Given the description of an element on the screen output the (x, y) to click on. 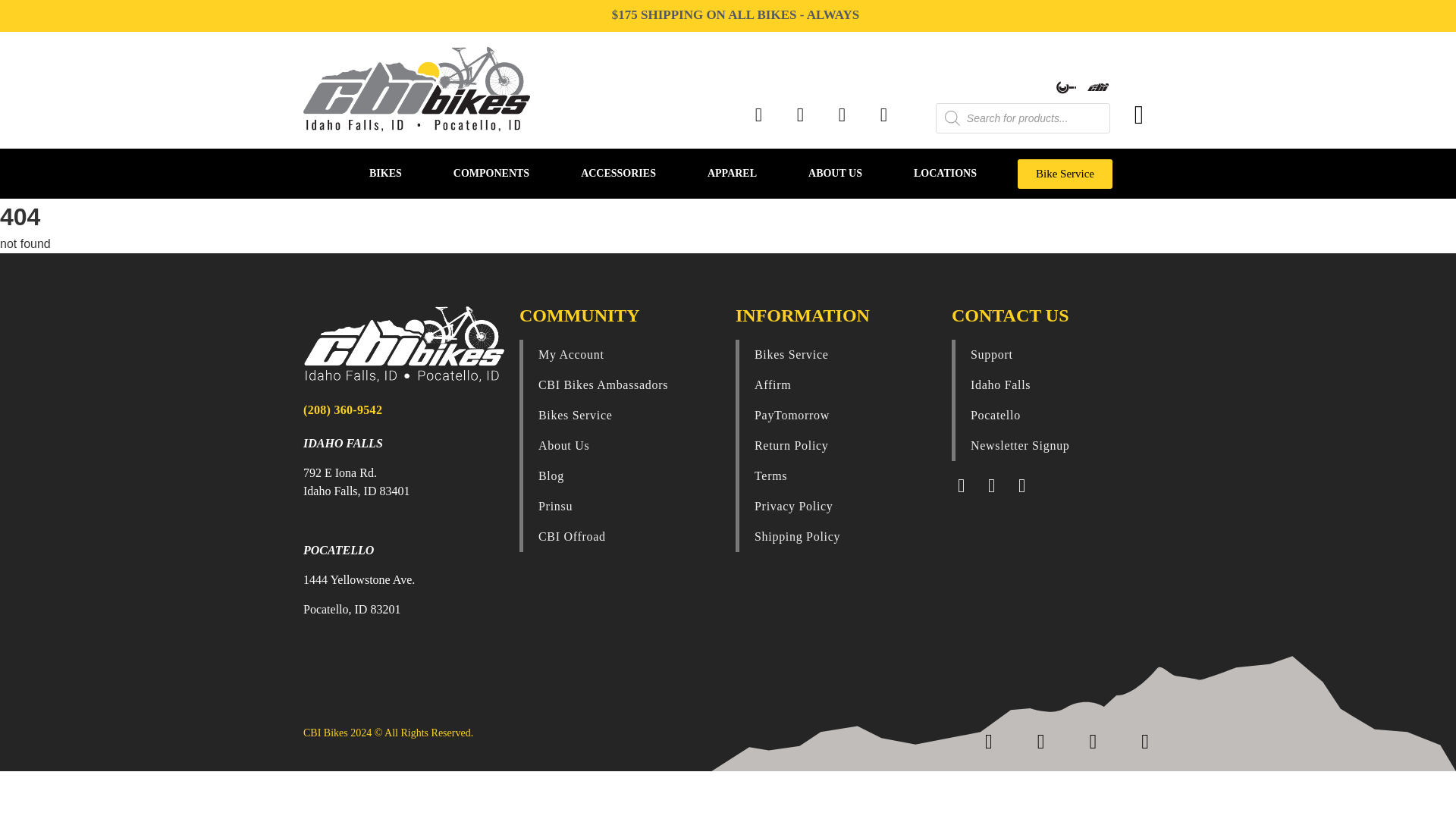
ACCESSORIES (617, 173)
COMPONENTS (491, 173)
BIKES (385, 173)
